Given the description of an element on the screen output the (x, y) to click on. 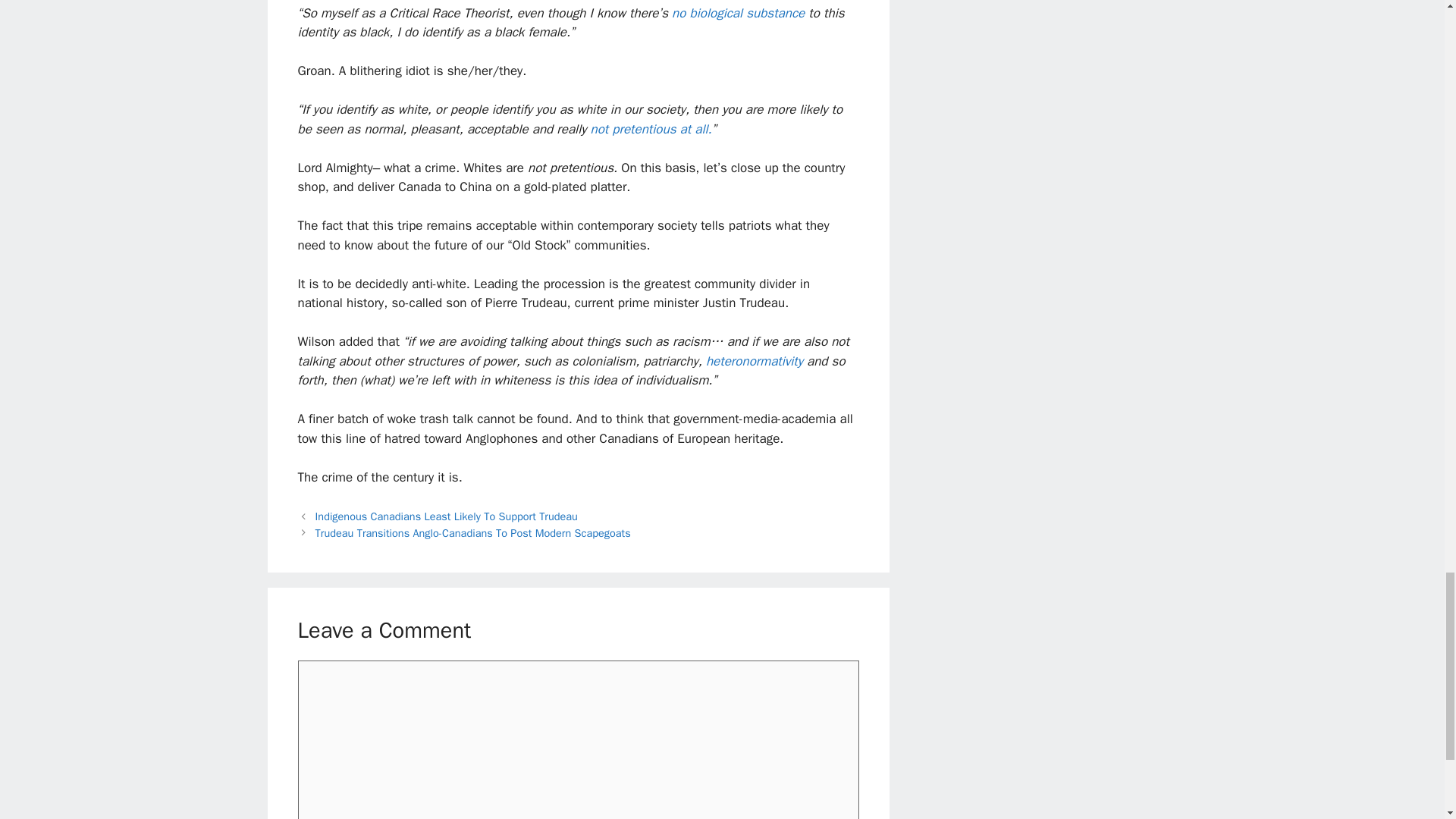
not pretentious at all. (650, 129)
Indigenous Canadians Least Likely To Support Trudeau (446, 516)
heteronormativity (754, 360)
no biological substance (738, 12)
